Given the description of an element on the screen output the (x, y) to click on. 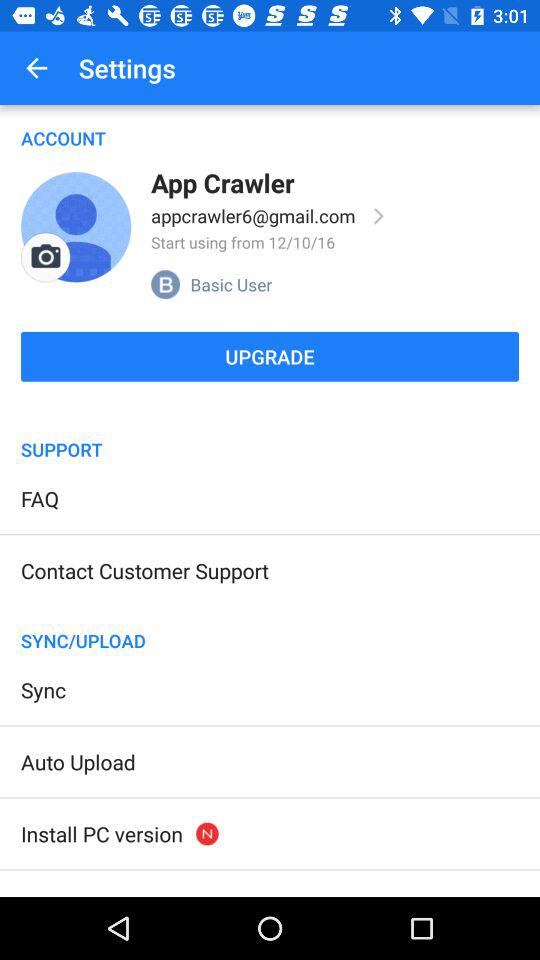
swipe to faq item (40, 498)
